Given the description of an element on the screen output the (x, y) to click on. 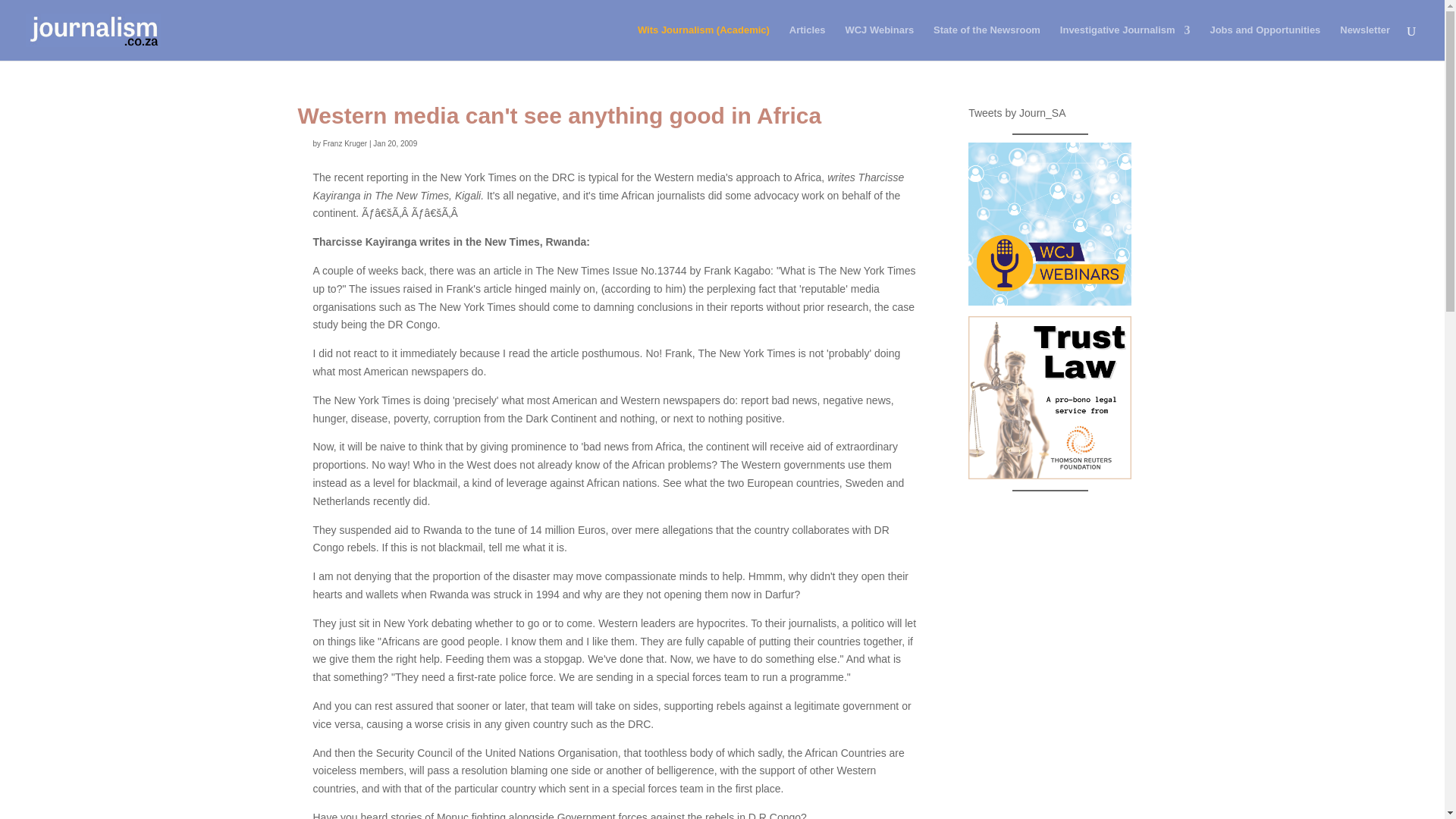
State of the Newsroom (987, 42)
Posts by Franz Kruger (344, 143)
Jobs and Opportunities (1264, 42)
WCJ Webinars (879, 42)
Investigative Journalism (1125, 42)
Franz Kruger (344, 143)
Newsletter (1364, 42)
Articles (807, 42)
